Given the description of an element on the screen output the (x, y) to click on. 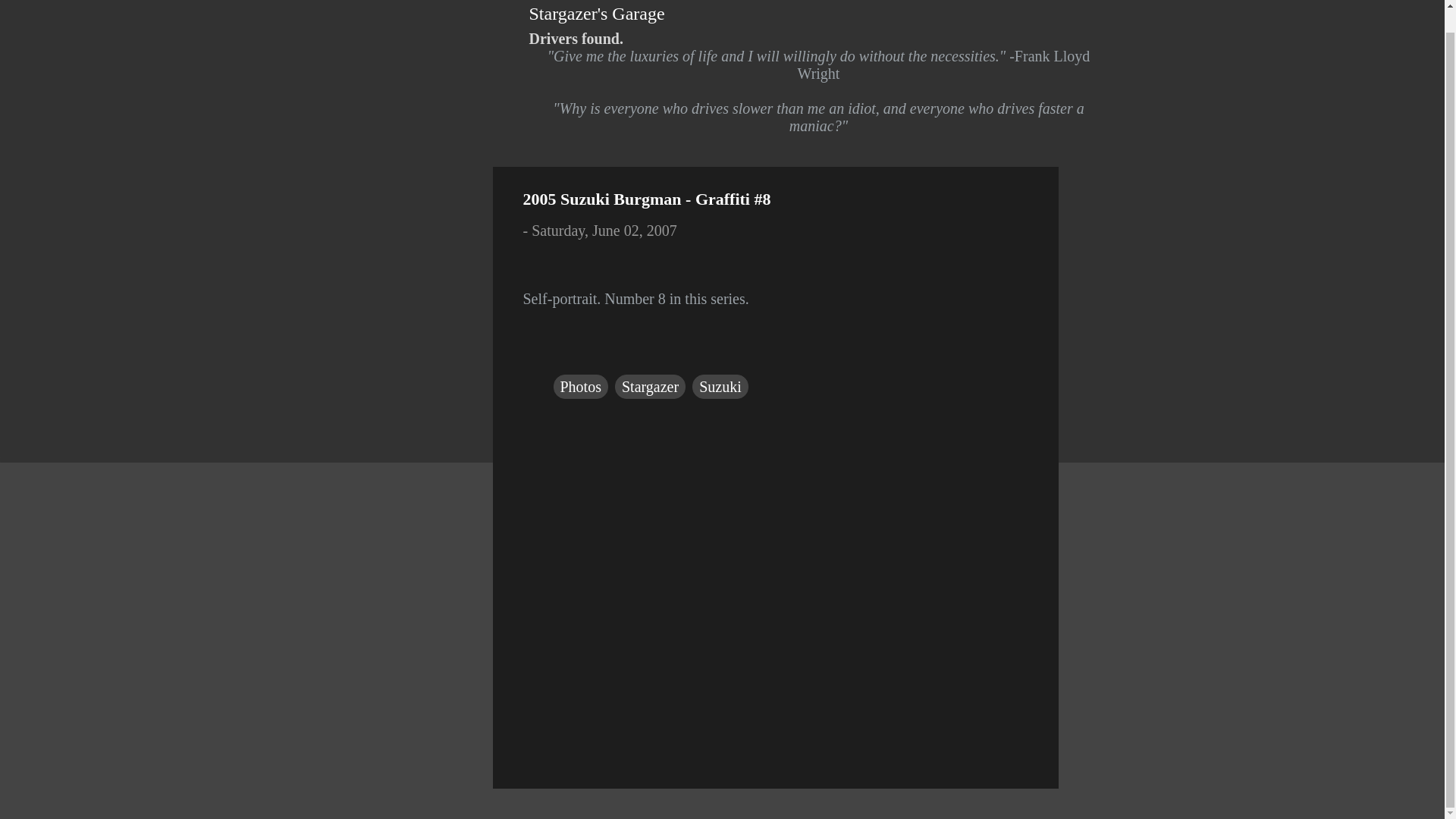
Stargazer (649, 386)
Saturday, June 02, 2007 (604, 230)
Search (37, 6)
permanent link (604, 230)
Stargazer's Garage (597, 13)
Suzuki (720, 386)
Photos (580, 386)
